Given the description of an element on the screen output the (x, y) to click on. 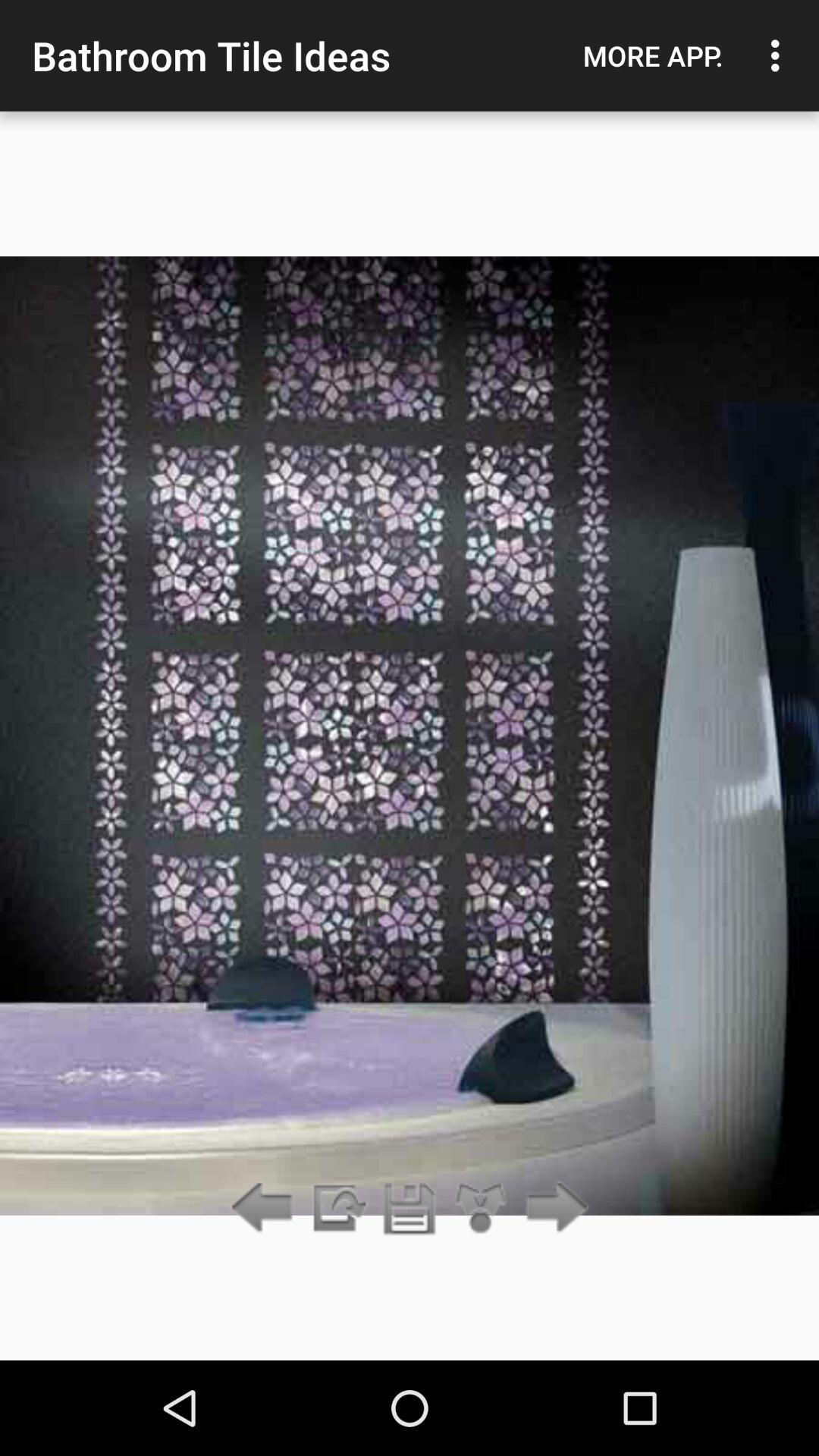
turn off app below bathroom tile ideas (337, 1208)
